Given the description of an element on the screen output the (x, y) to click on. 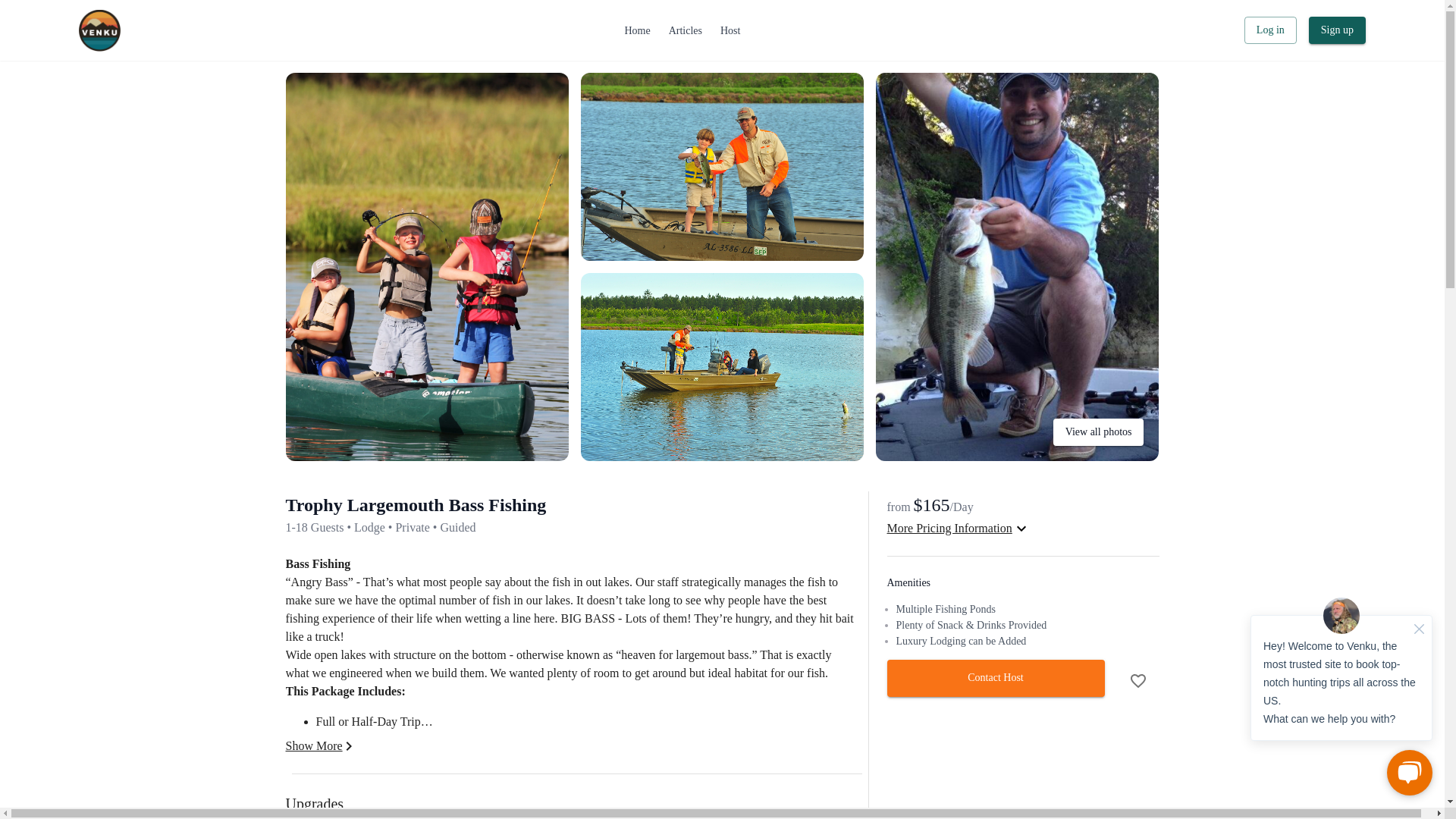
Articles (685, 30)
Chat Widget (1341, 695)
View all photos (1098, 432)
Sign up (1336, 30)
Contact Host (995, 678)
View all photos (1017, 456)
Home (636, 30)
Log in (1270, 30)
Host (730, 30)
